Given the description of an element on the screen output the (x, y) to click on. 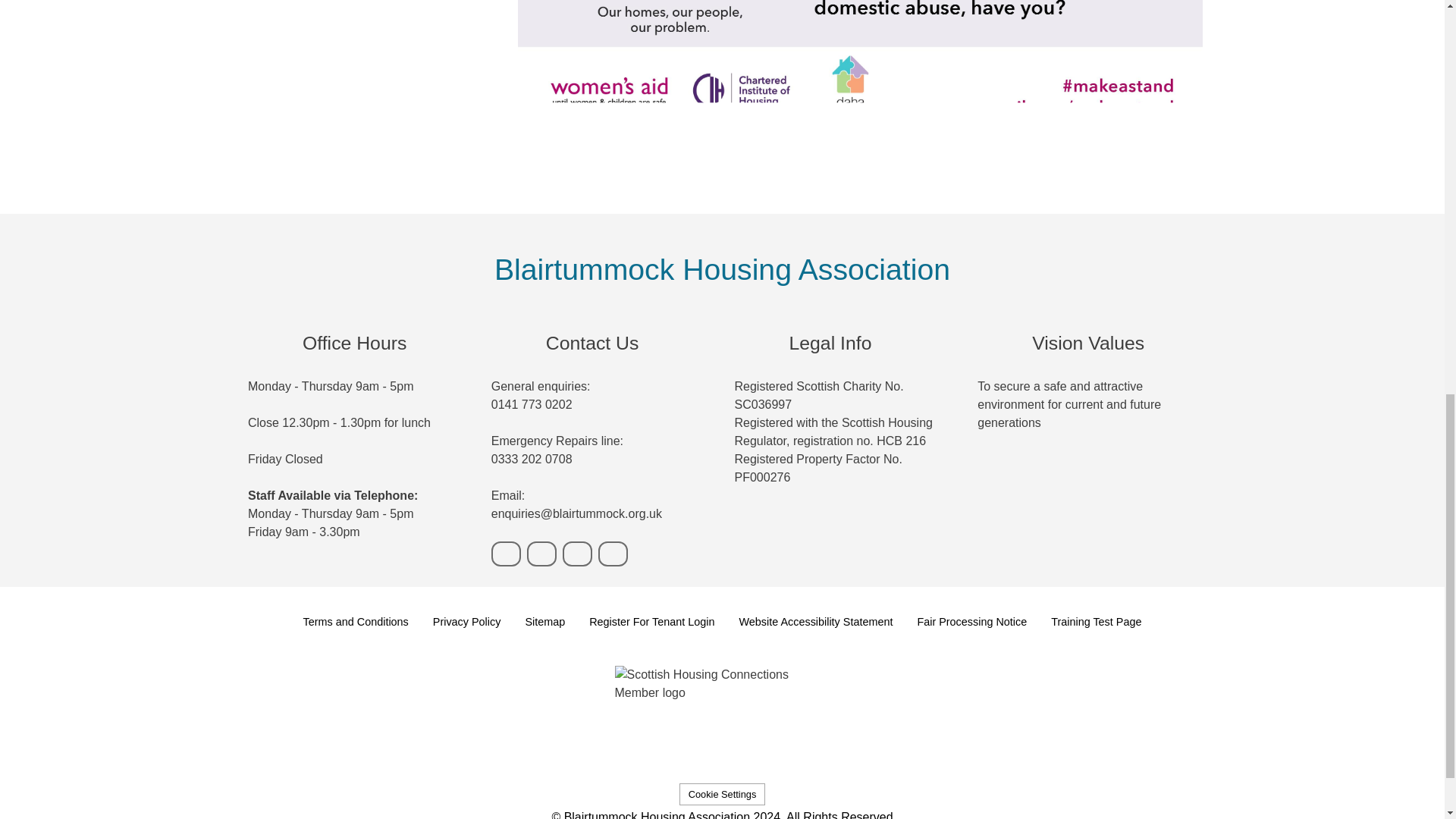
Email (541, 553)
X (612, 553)
Facebook (577, 553)
Phone (506, 553)
